Given the description of an element on the screen output the (x, y) to click on. 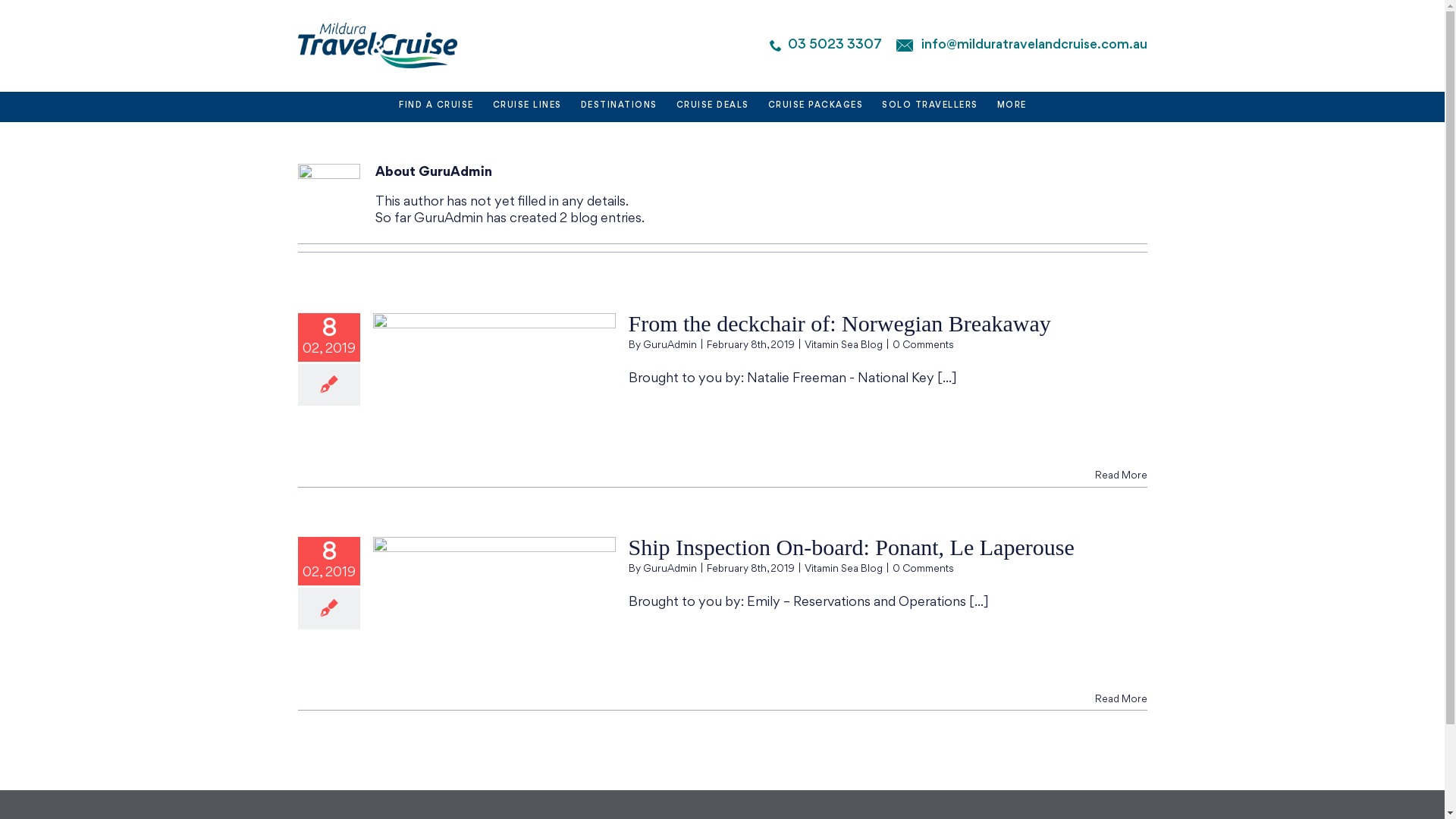
GuruAdmin Element type: text (669, 345)
Read More Element type: text (1121, 475)
0 Comments Element type: text (922, 569)
Vitamin Sea Blog Element type: text (842, 569)
SOLO TRAVELLERS Element type: text (929, 106)
From the deckchair of: Norwegian Breakaway Element type: text (838, 322)
Read More Element type: text (1121, 699)
CRUISE PACKAGES Element type: text (815, 106)
0 Comments Element type: text (922, 345)
CRUISE LINES Element type: text (526, 106)
Ship Inspection On-board: Ponant, Le Laperouse Element type: text (850, 546)
DESTINATIONS Element type: text (618, 106)
CRUISE DEALS Element type: text (712, 106)
03 5023 3307 Element type: text (834, 45)
MORE Element type: text (1011, 106)
FIND A CRUISE Element type: text (435, 106)
Vitamin Sea Blog Element type: text (842, 345)
info@milduratravelandcruise.com.au Element type: text (1033, 45)
GuruAdmin Element type: text (669, 569)
